Given the description of an element on the screen output the (x, y) to click on. 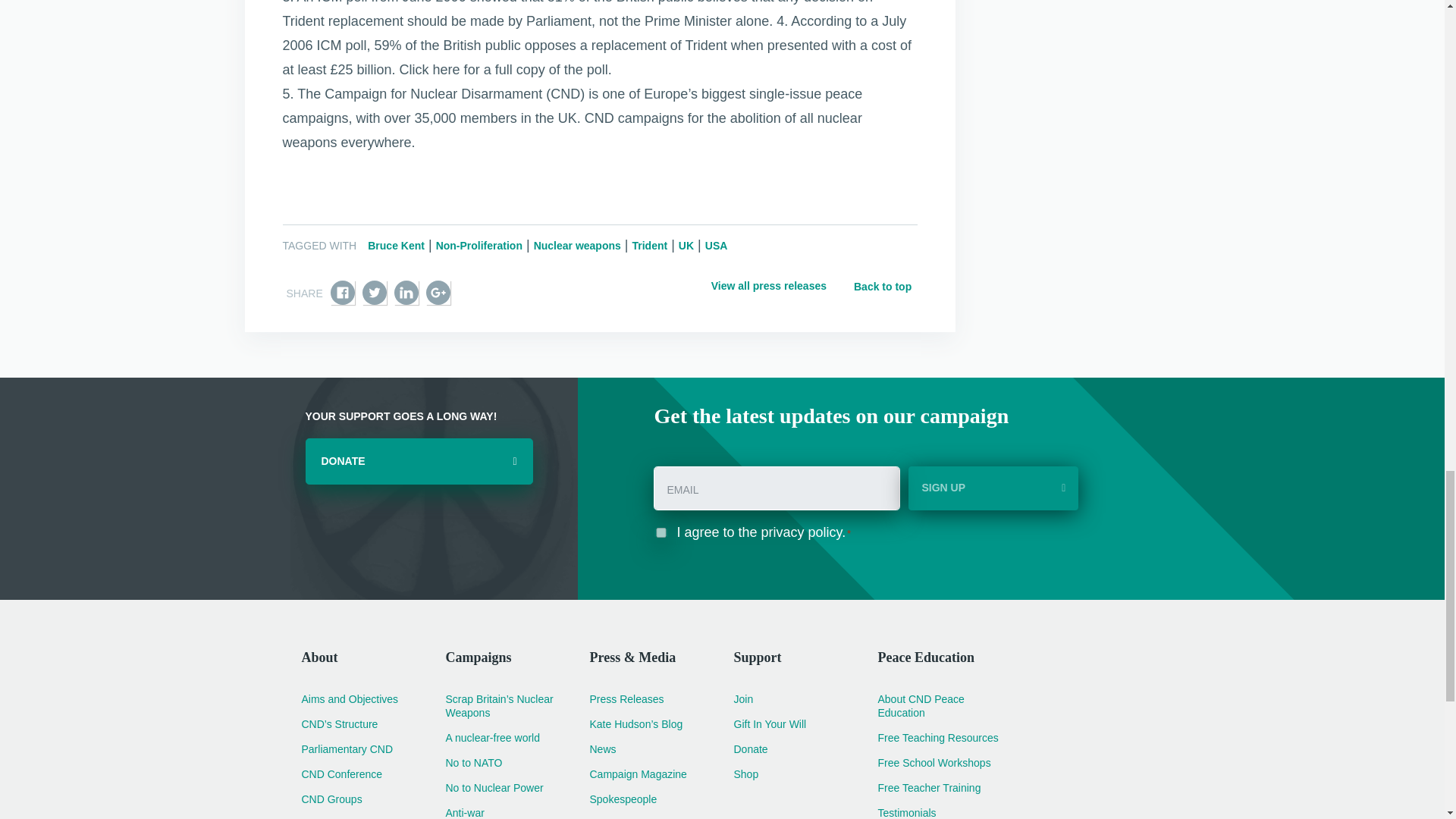
UK (686, 245)
Non-Proliferation (478, 245)
Bruce Kent (396, 245)
Nuclear weapons (577, 245)
1 (660, 532)
Share on Linkedin (406, 292)
Share on Facebook (342, 292)
Share on Twitter (374, 292)
Trident (649, 245)
